Given the description of an element on the screen output the (x, y) to click on. 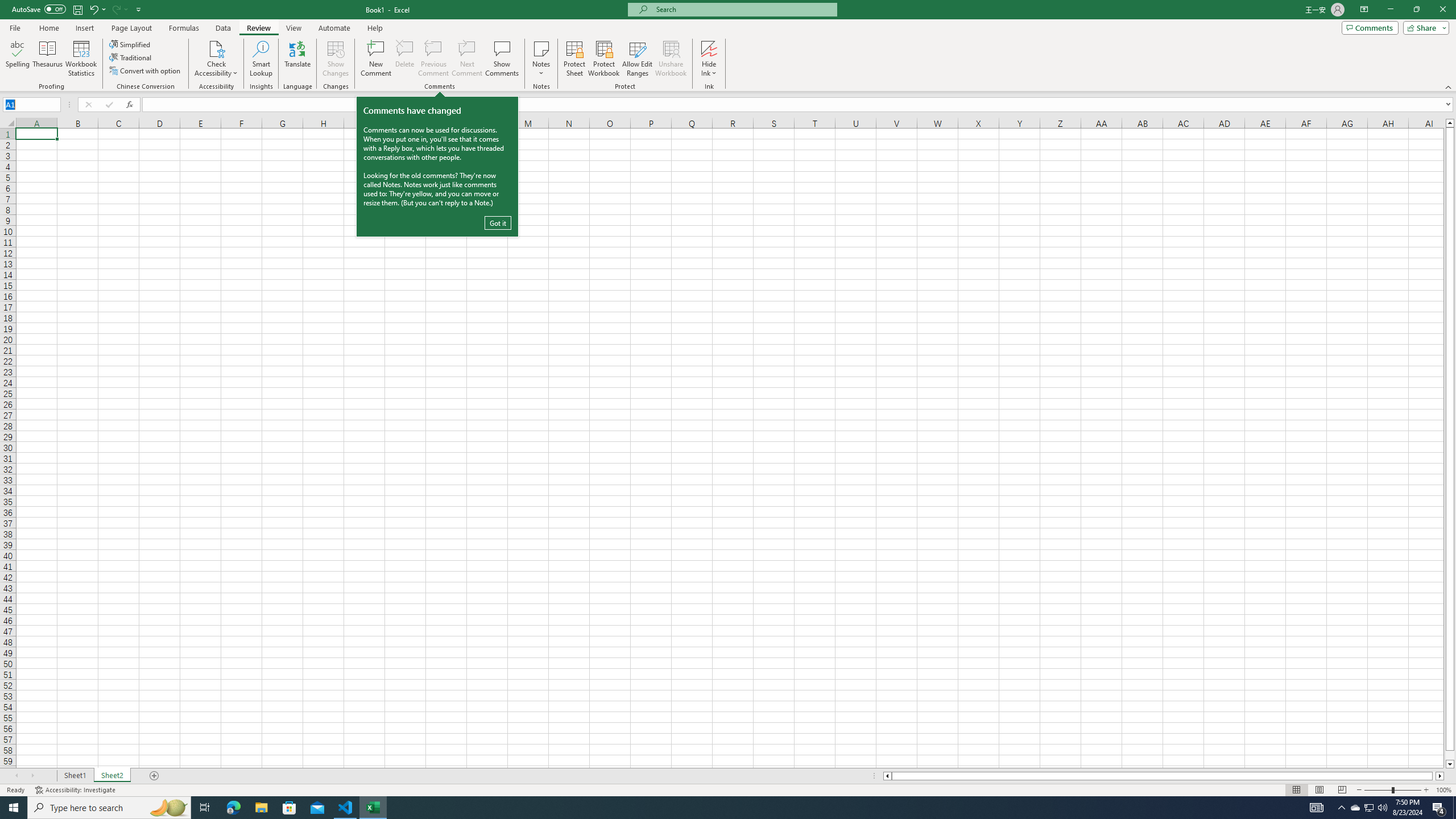
Show Changes (335, 58)
Protect Workbook... (603, 58)
Unshare Workbook (670, 58)
Check Accessibility (215, 48)
